Given the description of an element on the screen output the (x, y) to click on. 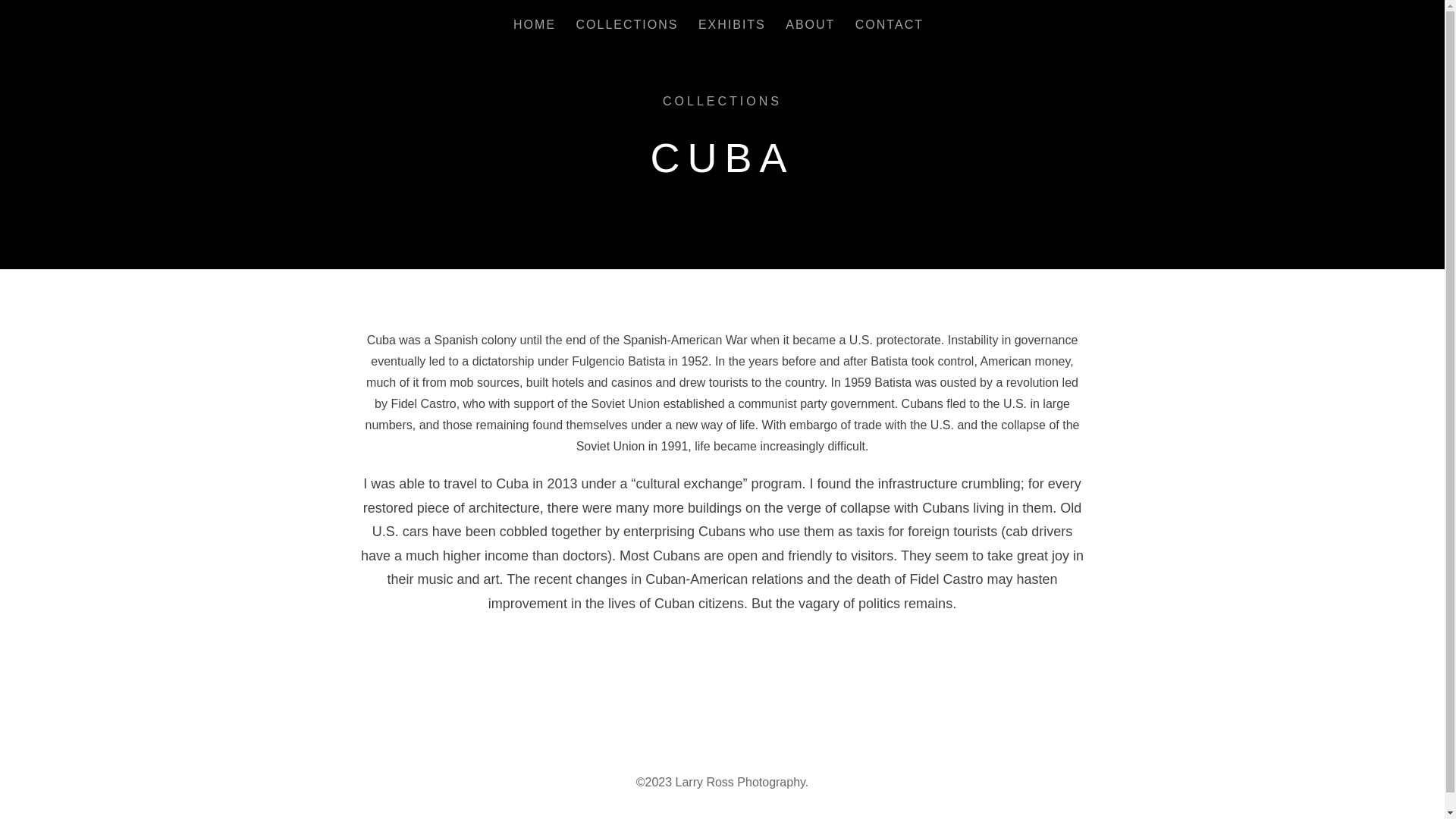
ABOUT (810, 27)
COLLECTIONS (627, 27)
HOME (534, 27)
CONTACT (889, 27)
EXHIBITS (731, 27)
COLLECTIONS (721, 101)
